Given the description of an element on the screen output the (x, y) to click on. 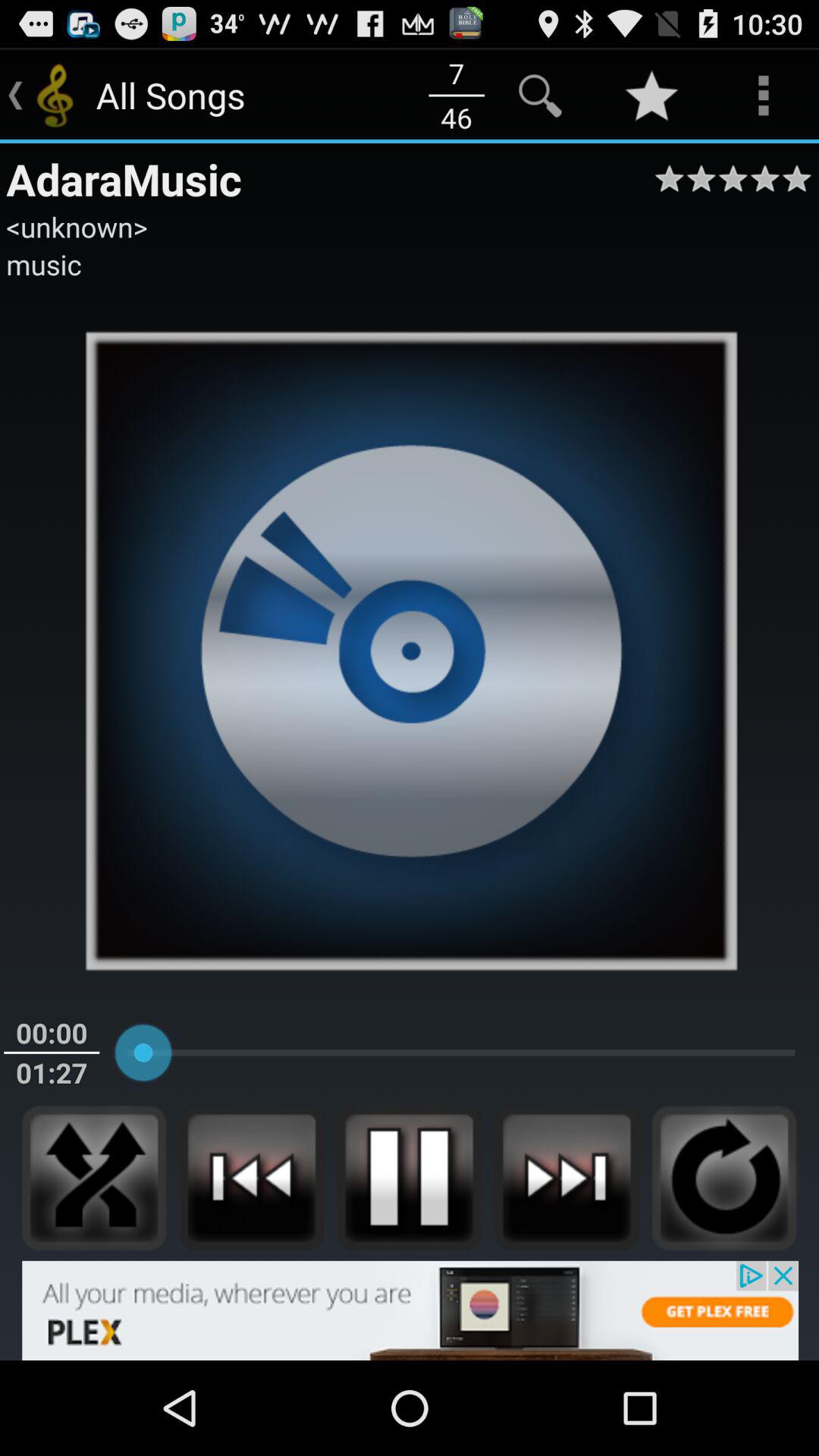
the video and music player with customizable space (251, 1177)
